Given the description of an element on the screen output the (x, y) to click on. 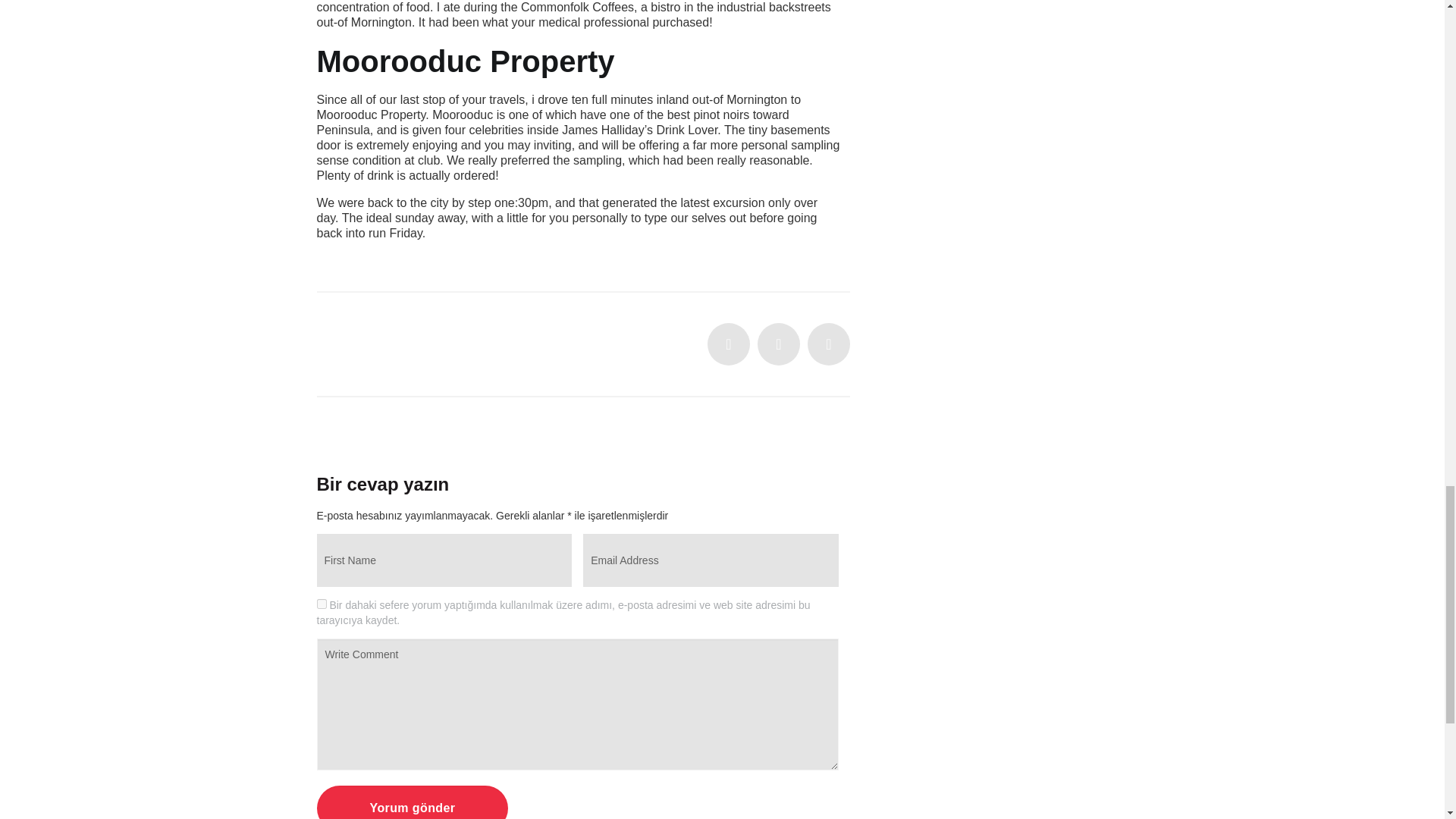
Social Share facebook (778, 343)
yes (321, 603)
Social Share whatsapp (829, 343)
Social Share twitter (728, 343)
